Given the description of an element on the screen output the (x, y) to click on. 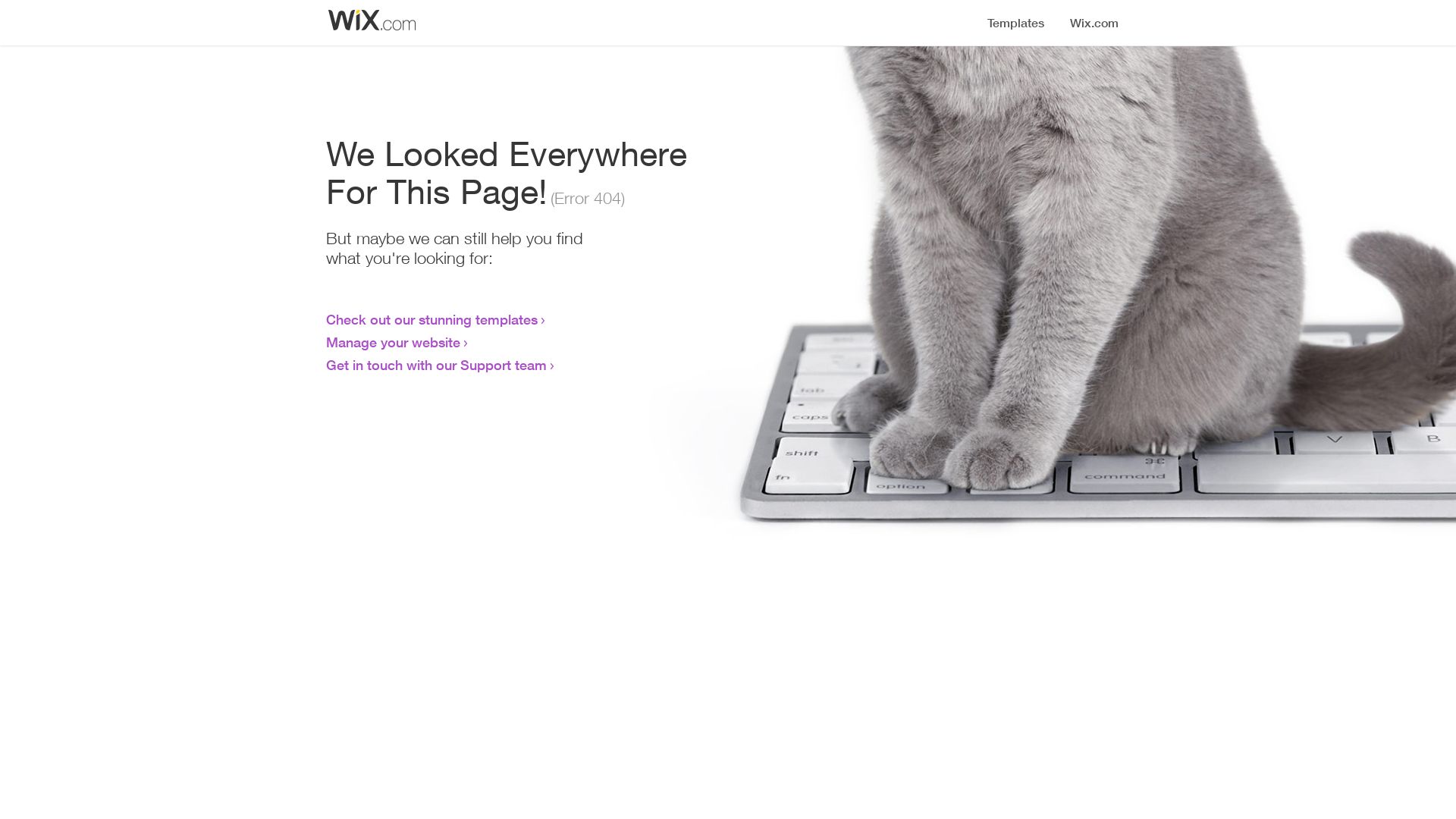
Check out our stunning templates Element type: text (431, 318)
Manage your website Element type: text (393, 341)
Get in touch with our Support team Element type: text (436, 364)
